Given the description of an element on the screen output the (x, y) to click on. 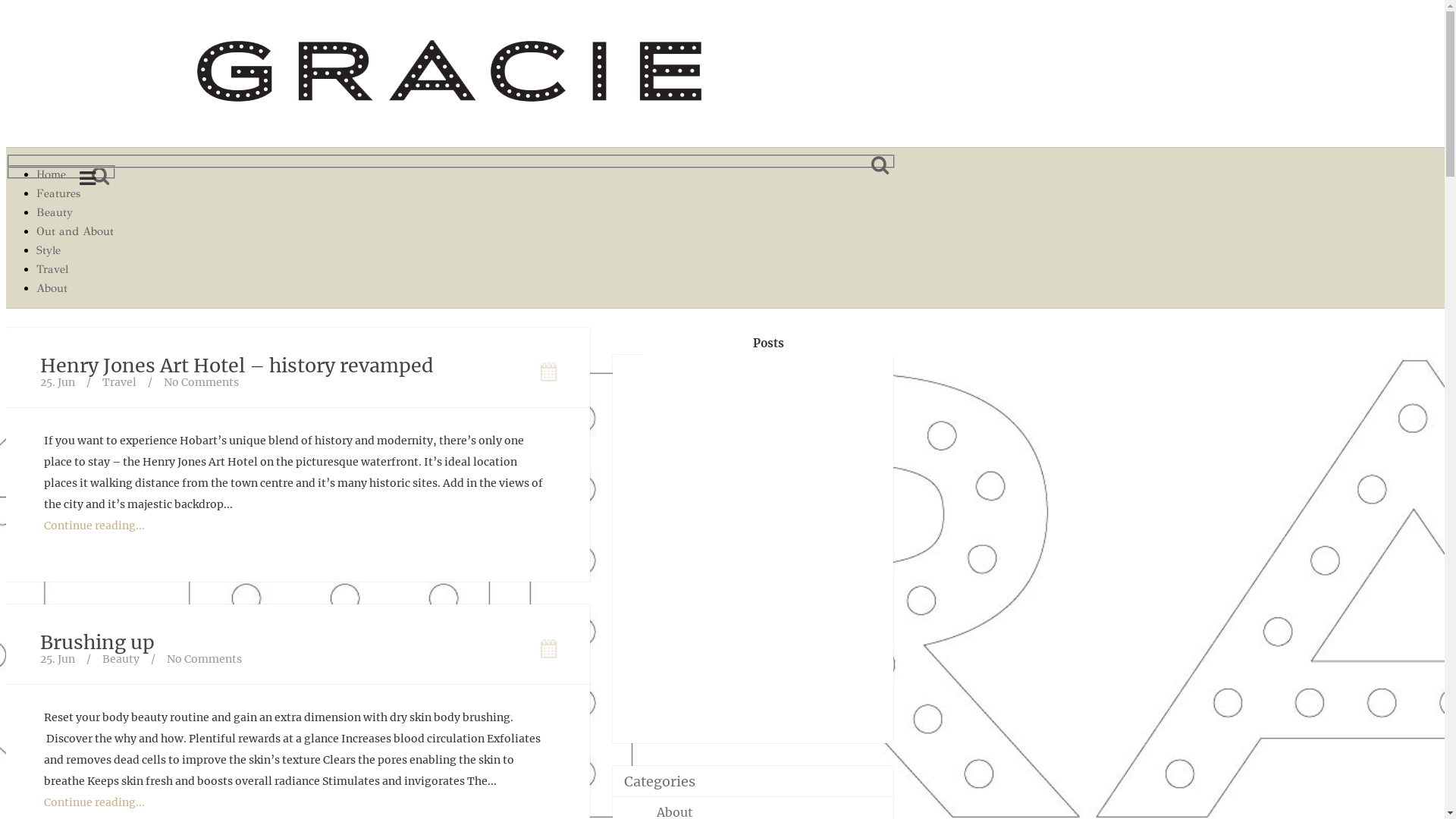
No Comments Element type: text (200, 382)
Beauty Element type: text (120, 658)
Features Element type: text (74, 193)
Posts Element type: text (768, 343)
Style Element type: text (74, 250)
Brushing up Element type: text (97, 642)
Home Element type: text (74, 174)
Travel Element type: text (119, 382)
Out and About Element type: text (74, 231)
Beauty Element type: text (74, 212)
Continue reading... Element type: text (93, 525)
Continue reading... Element type: text (93, 802)
Travel Element type: text (74, 269)
About Element type: text (74, 288)
GRACIE Element type: hover (449, 76)
No Comments Element type: text (203, 658)
